Given the description of an element on the screen output the (x, y) to click on. 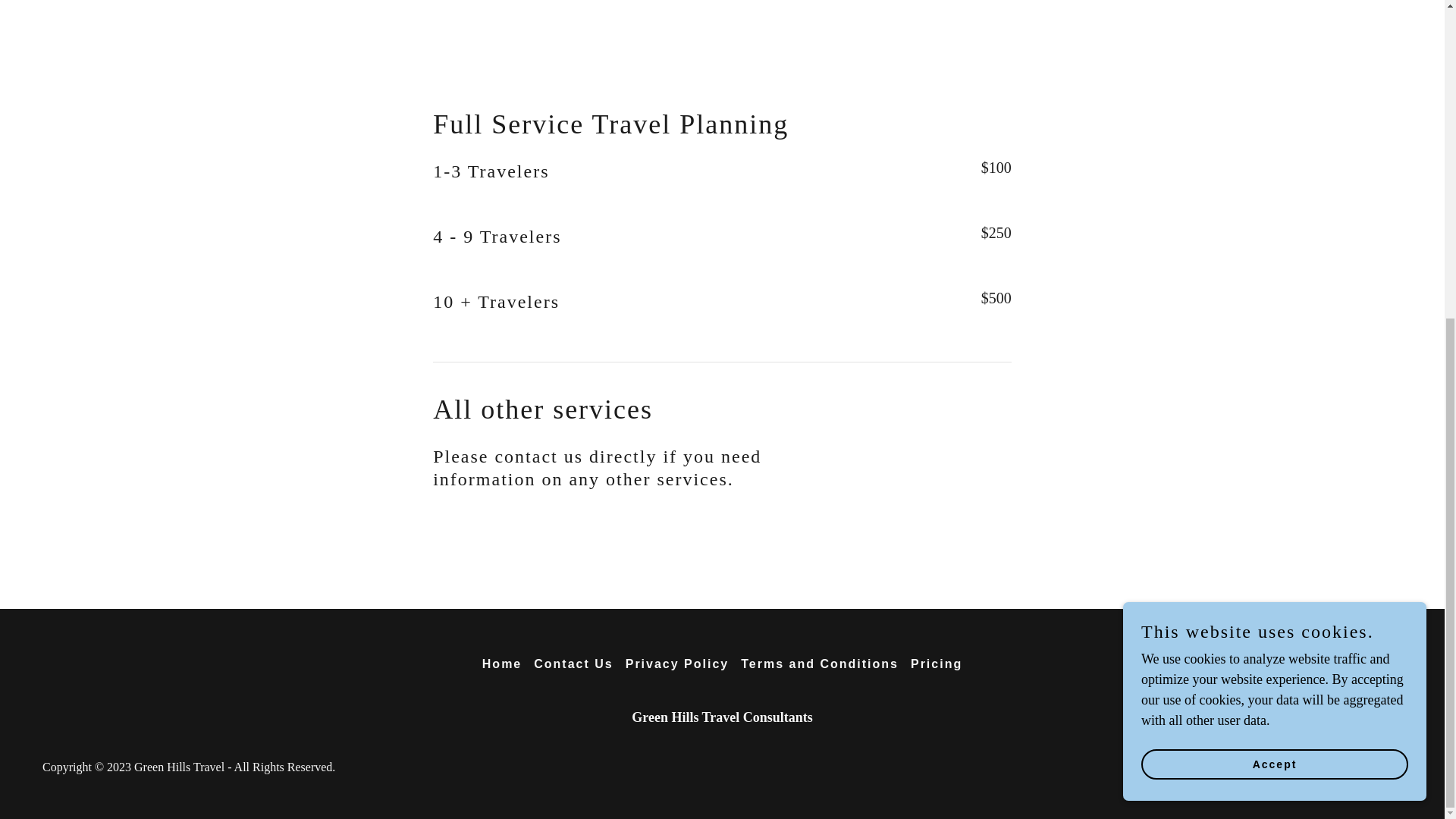
Privacy Policy (677, 664)
Contact Us (572, 664)
Home (501, 664)
Terms and Conditions (819, 664)
Pricing (936, 664)
Accept (1274, 250)
GoDaddy (1378, 766)
